Given the description of an element on the screen output the (x, y) to click on. 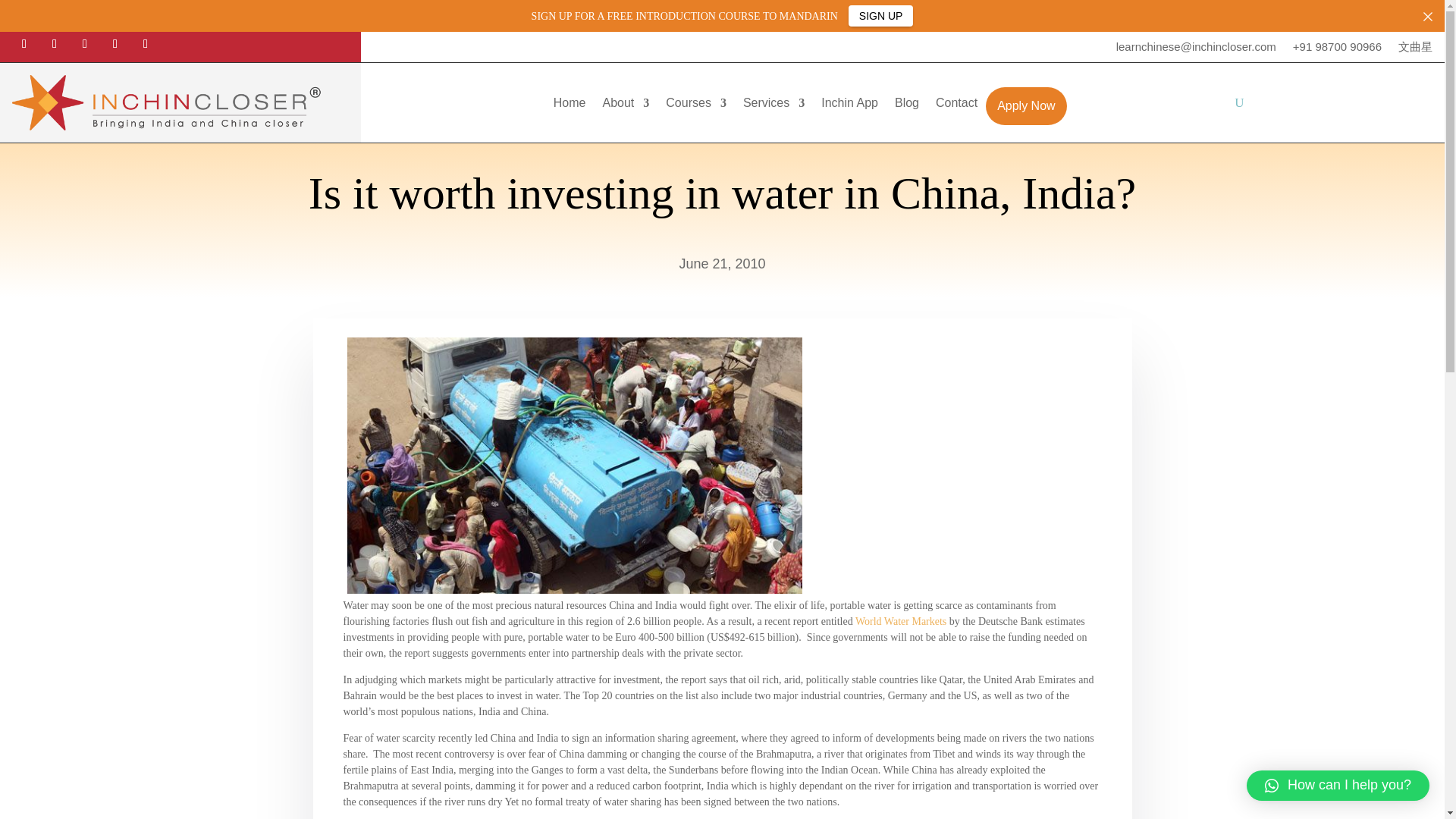
Inchin App (849, 105)
About (625, 105)
Close (1427, 15)
SIGN UP (881, 15)
Follow on LinkedIn (115, 43)
Follow on Youtube (145, 43)
Home (569, 105)
Inchin transparent logo (180, 102)
Services (773, 105)
Follow on Facebook (23, 43)
